Given the description of an element on the screen output the (x, y) to click on. 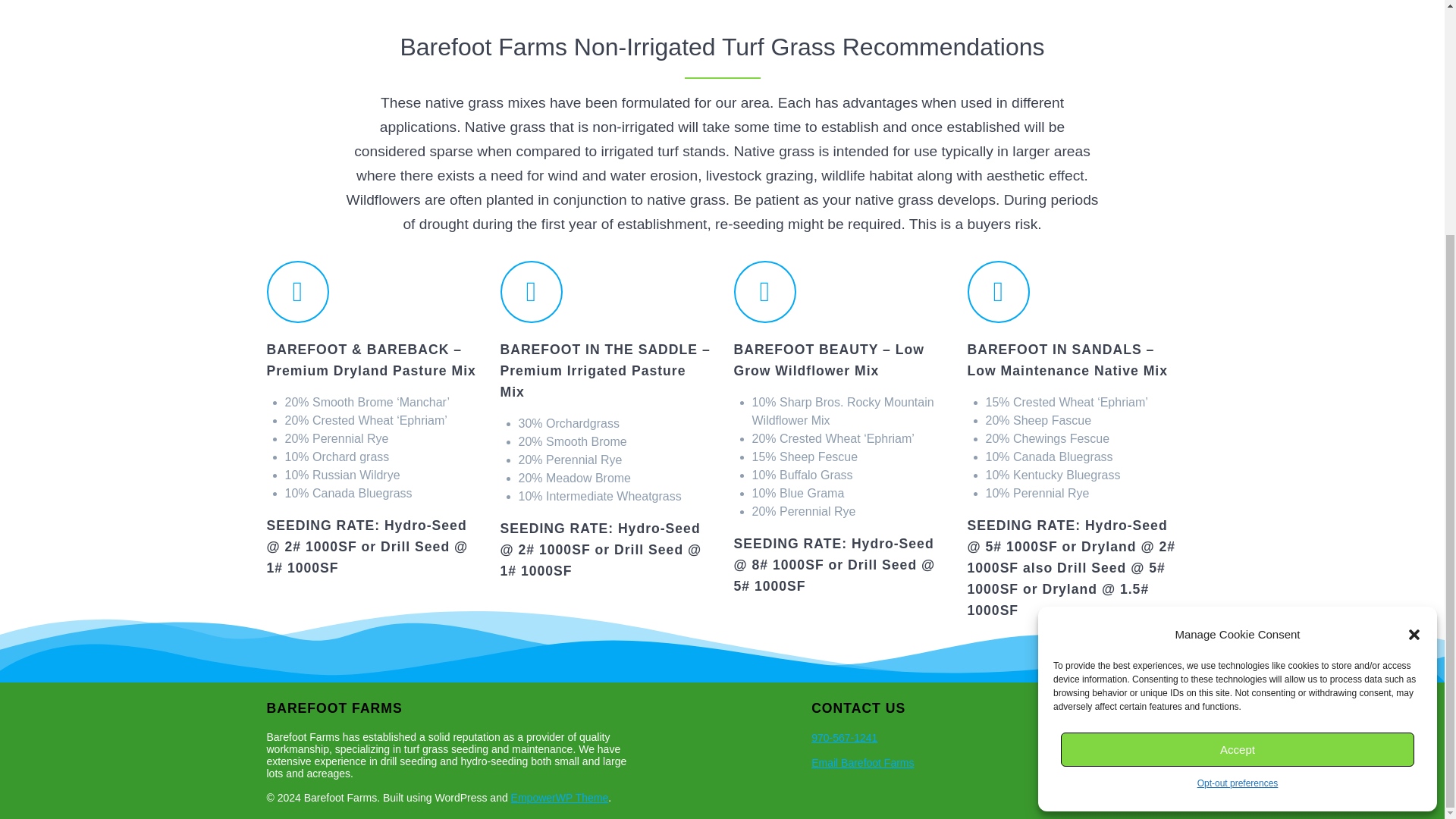
Accept (1237, 430)
EmpowerWP Theme (559, 797)
Opt-out preferences (1237, 464)
970-567-1241 (843, 737)
Email Barefoot Farms (862, 762)
